Given the description of an element on the screen output the (x, y) to click on. 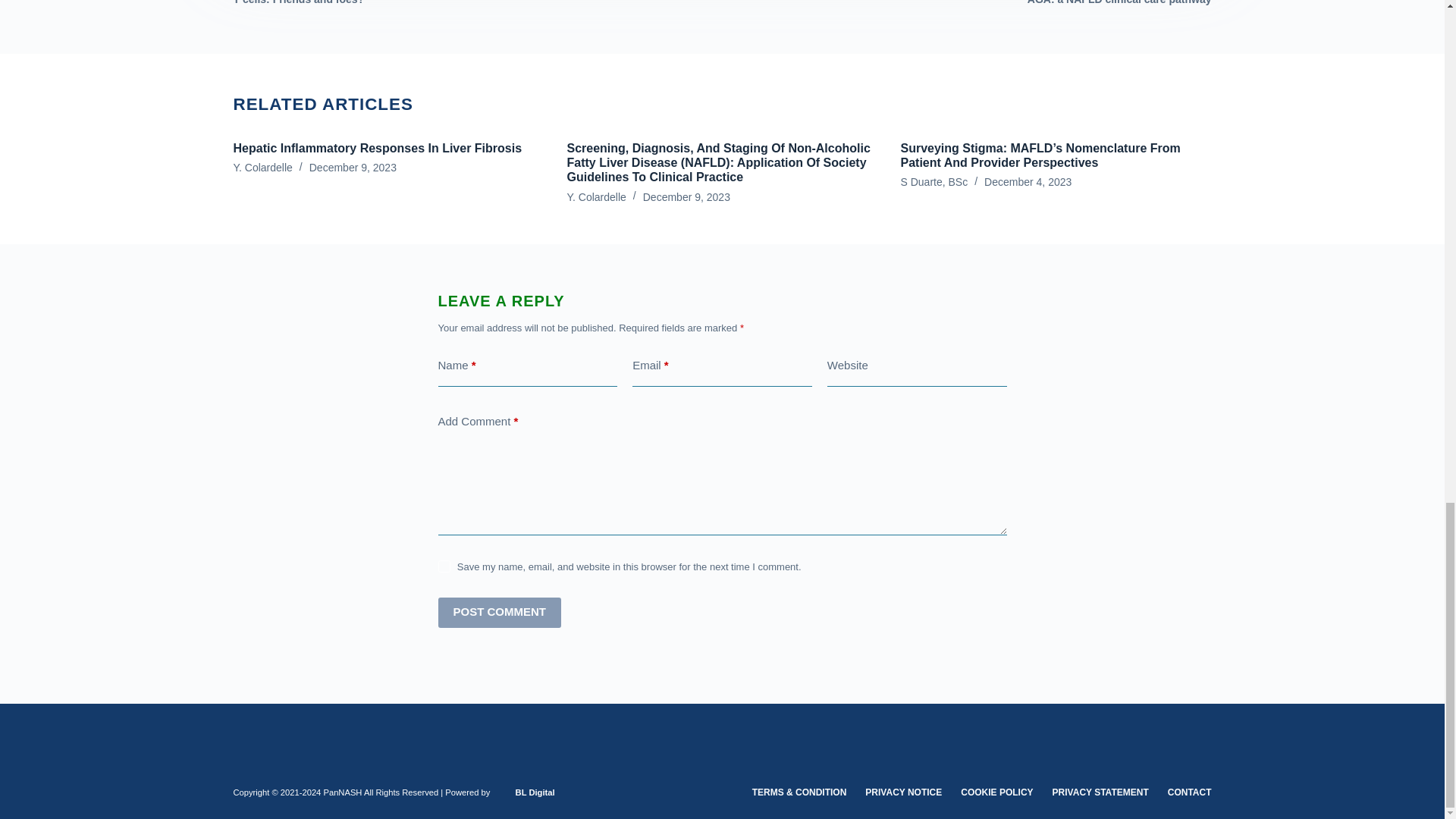
Posts by Y. Colardelle (262, 167)
yes (443, 566)
Posts by S Duarte, BSc (934, 182)
BL Digital - Website that sells (534, 791)
Posts by Y. Colardelle (596, 196)
